Given the description of an element on the screen output the (x, y) to click on. 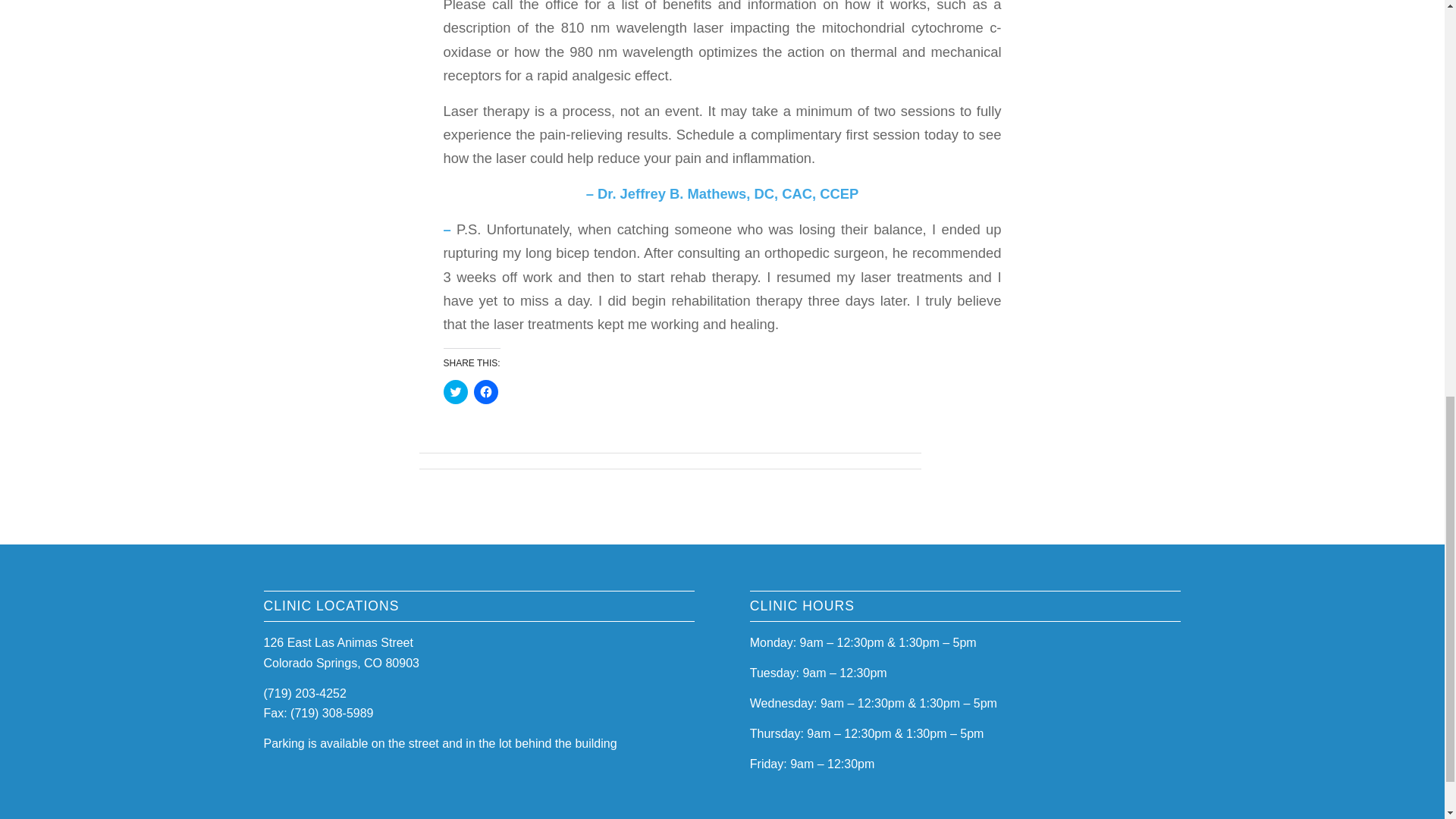
Click to share on Facebook (485, 392)
Click to share on Twitter (454, 392)
